Given the description of an element on the screen output the (x, y) to click on. 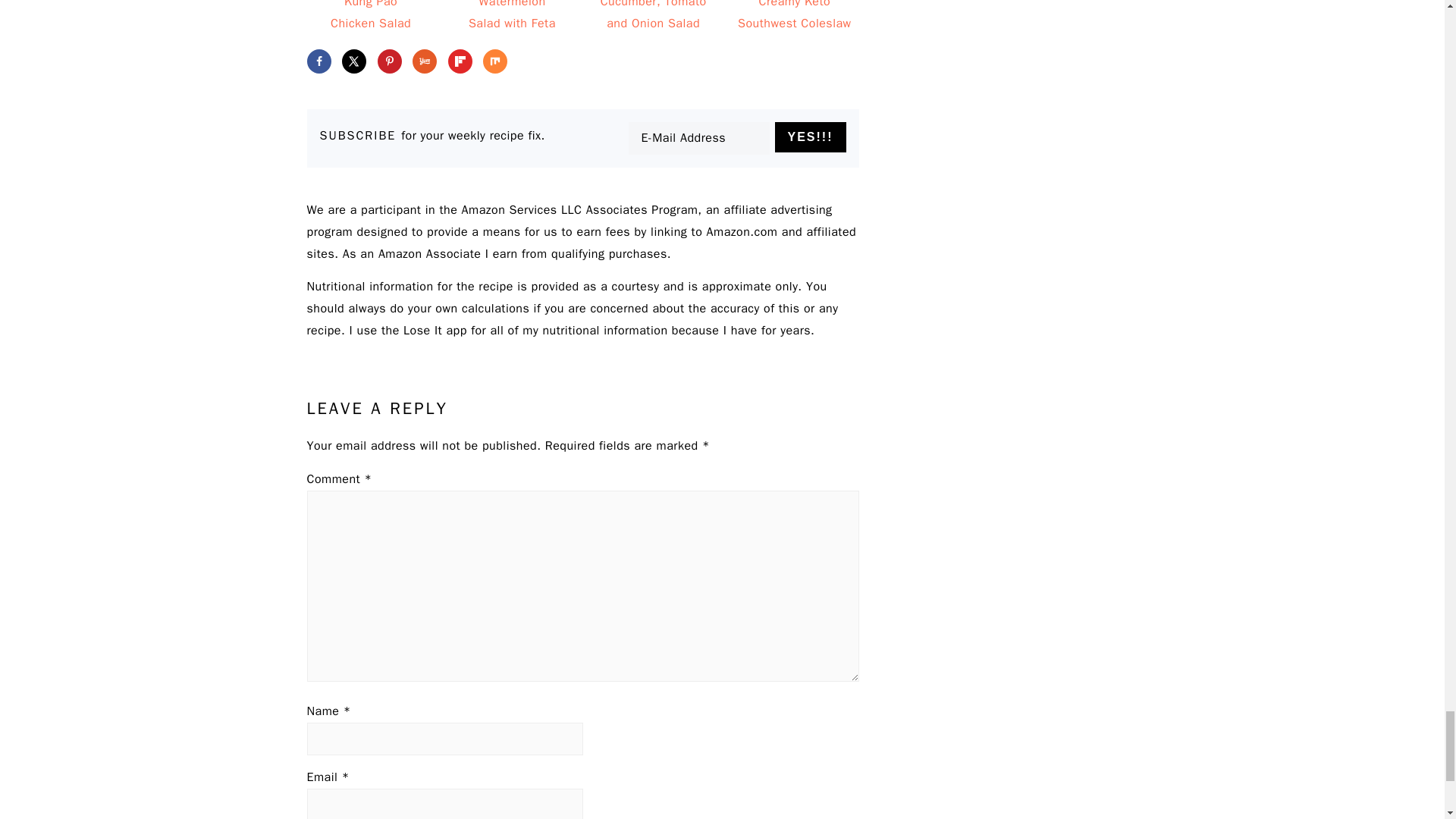
Share on Flipboard (459, 61)
Share on X (354, 61)
Share on Yummly (424, 61)
Yes!!! (809, 137)
Share on Mix (494, 61)
Save to Pinterest (389, 61)
Share on Facebook (317, 61)
